Given the description of an element on the screen output the (x, y) to click on. 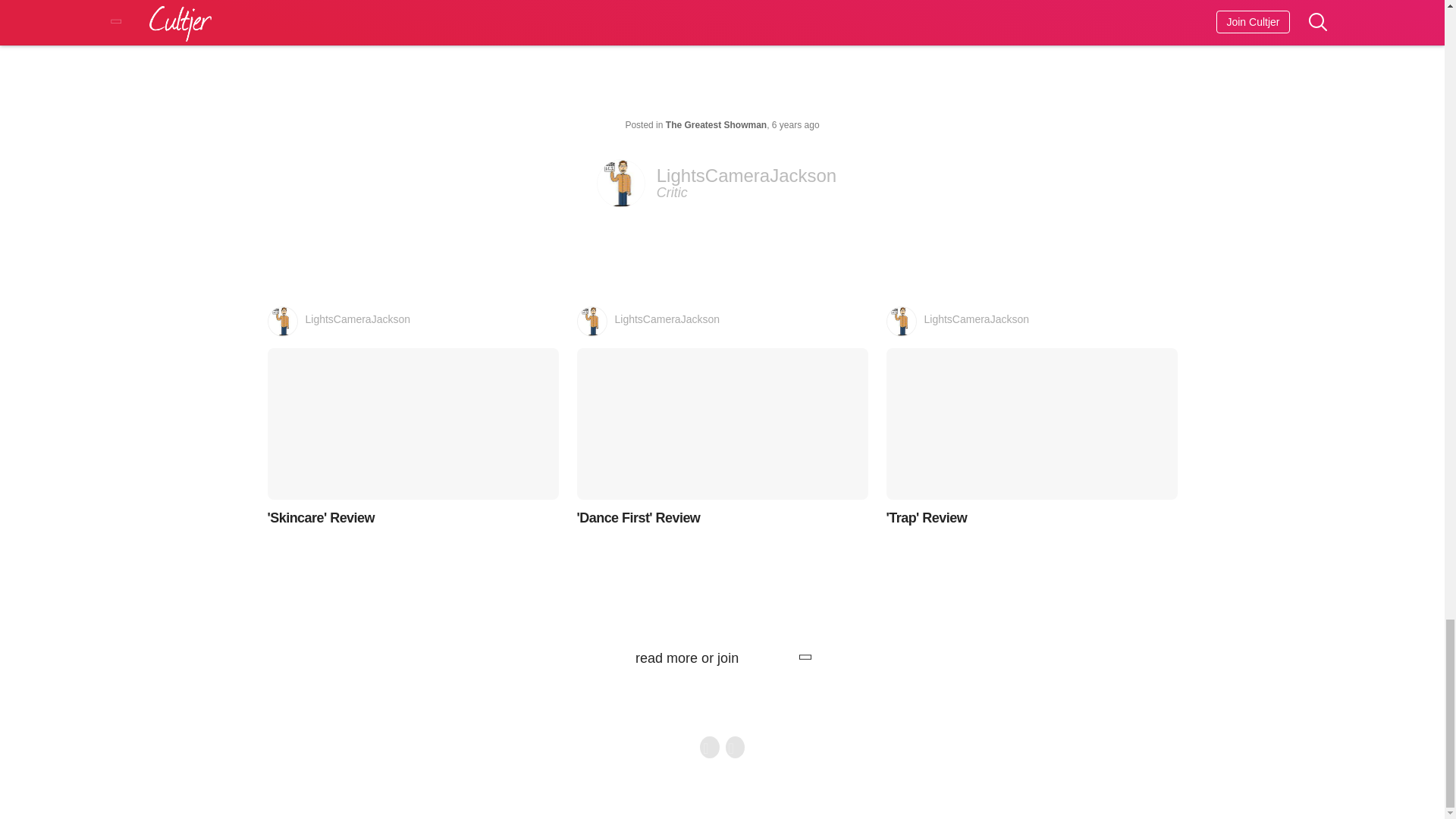
The Greatest Showman (716, 124)
Cutjer (775, 657)
LightsCameraJackson (721, 321)
LightsCameraJackson (411, 321)
'Dance First' Review (721, 437)
LightsCameraJackson (721, 183)
'Trap' Review (1030, 321)
'Skincare' Review (1030, 437)
